Given the description of an element on the screen output the (x, y) to click on. 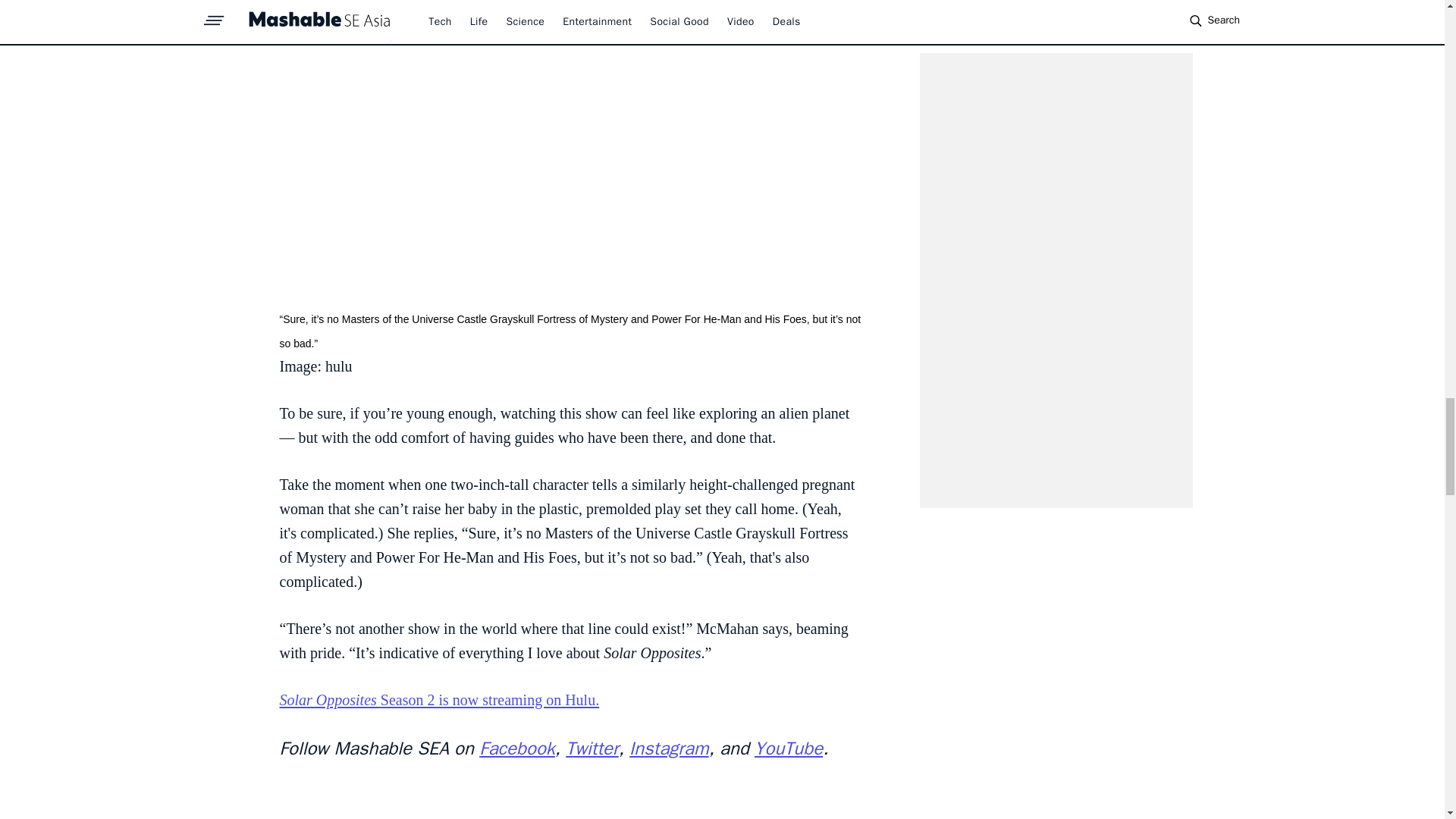
Facebook (516, 748)
YouTube (788, 748)
Instagram (668, 748)
Solar Opposites Season 2 is now streaming on Hulu. (438, 699)
Twitter (592, 748)
